Given the description of an element on the screen output the (x, y) to click on. 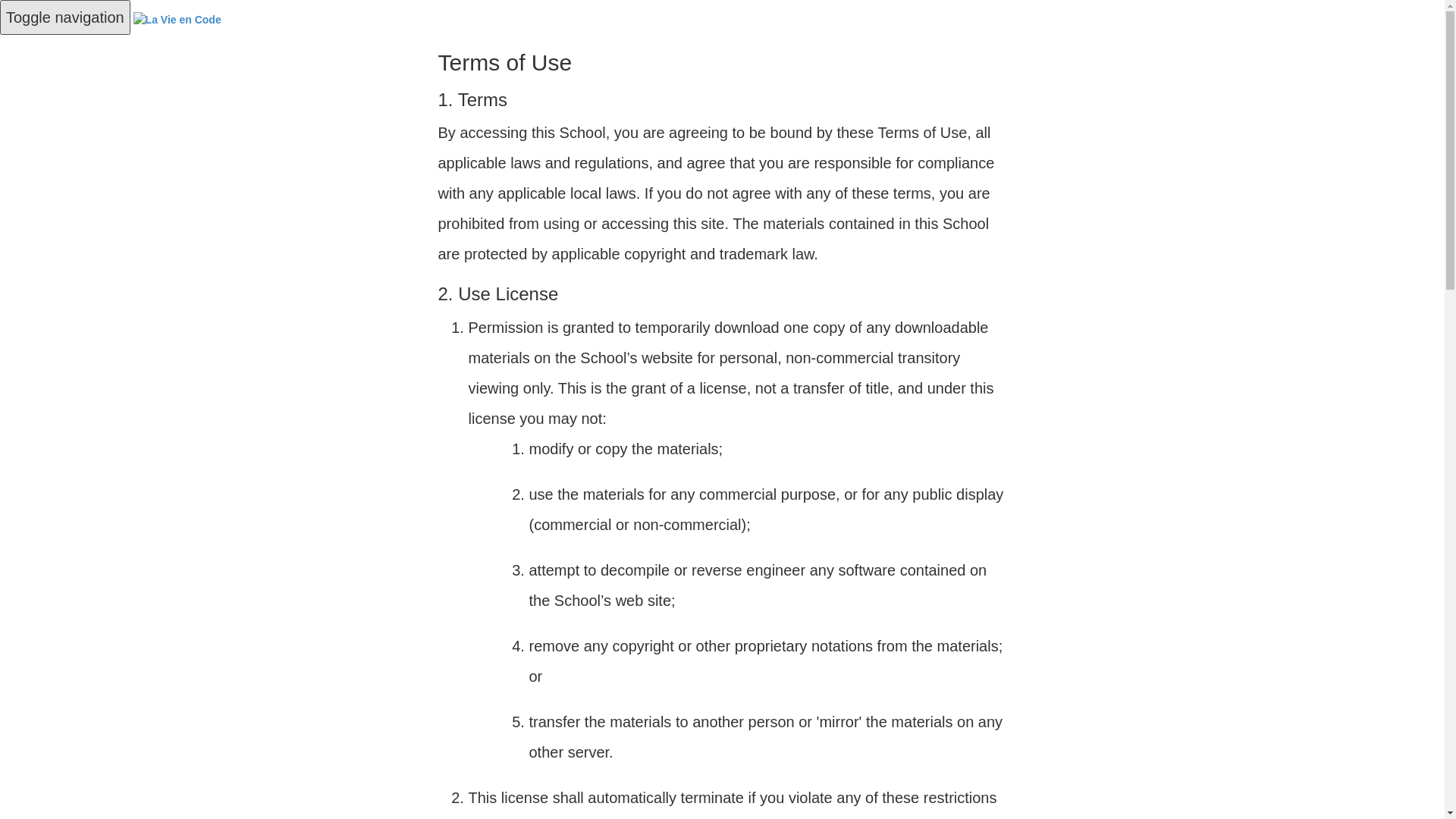
Toggle navigation Element type: text (65, 17)
